Given the description of an element on the screen output the (x, y) to click on. 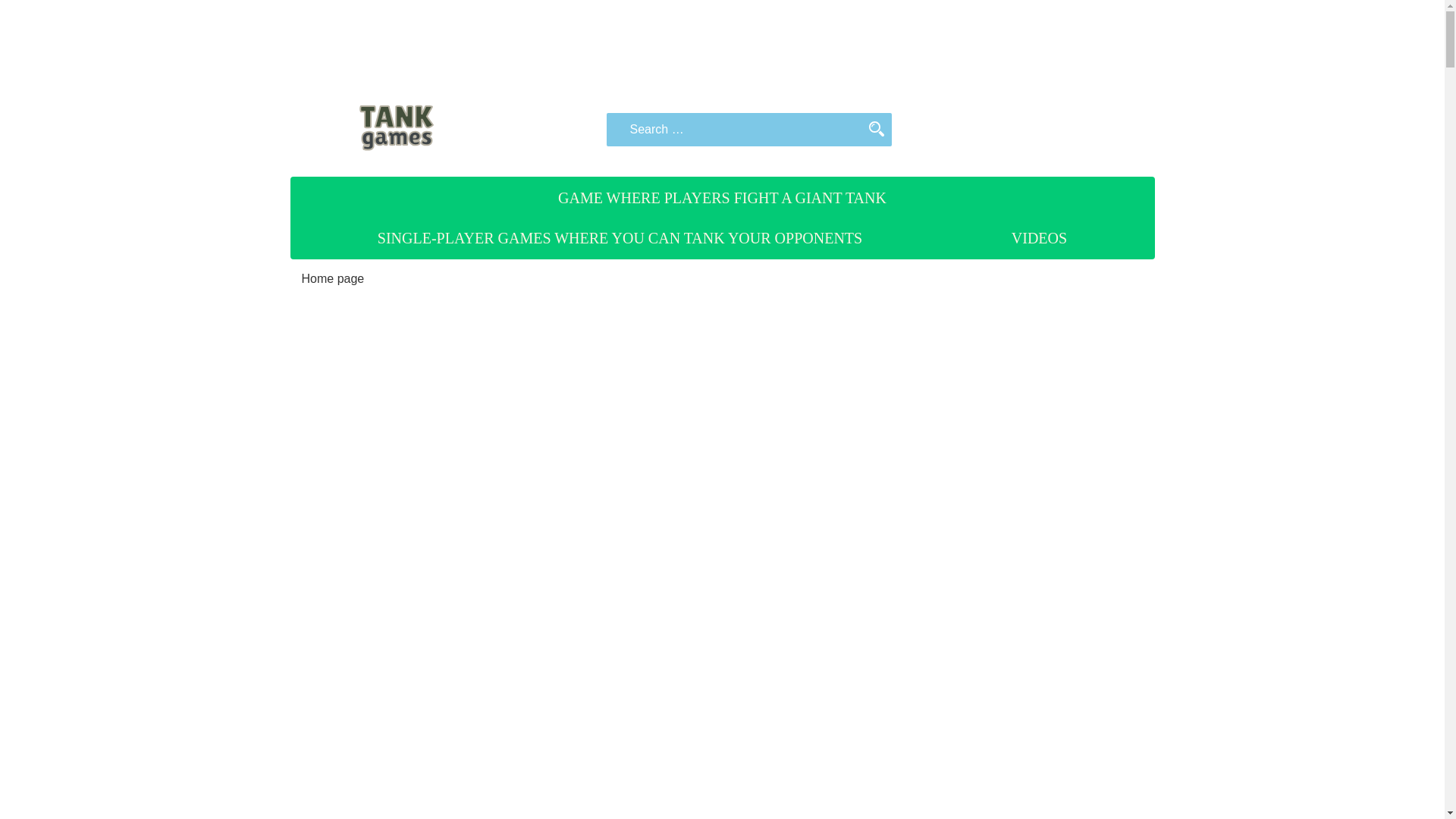
Home page (333, 278)
VIDEOS (1039, 237)
GAME WHERE PLAYERS FIGHT A GIANT TANK (722, 197)
SINGLE-PLAYER GAMES WHERE YOU CAN TANK YOUR OPPONENTS (619, 237)
